Given the description of an element on the screen output the (x, y) to click on. 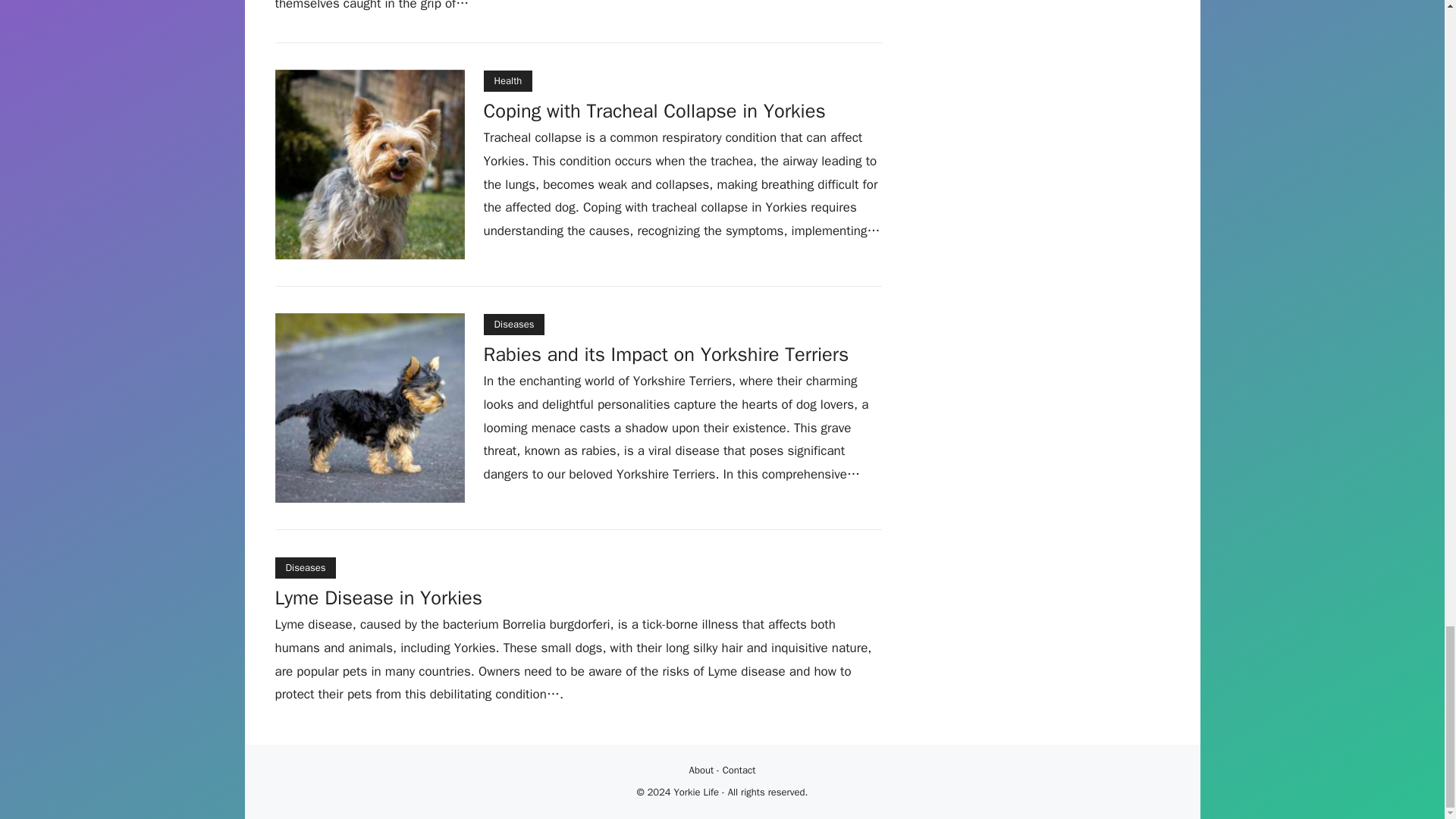
Diseases (513, 323)
Health (507, 80)
Lyme Disease in Yorkies (378, 599)
Rabies and its Impact on Yorkshire Terriers (665, 356)
Coping with Tracheal Collapse in Yorkies (654, 112)
Diseases (305, 567)
